Given the description of an element on the screen output the (x, y) to click on. 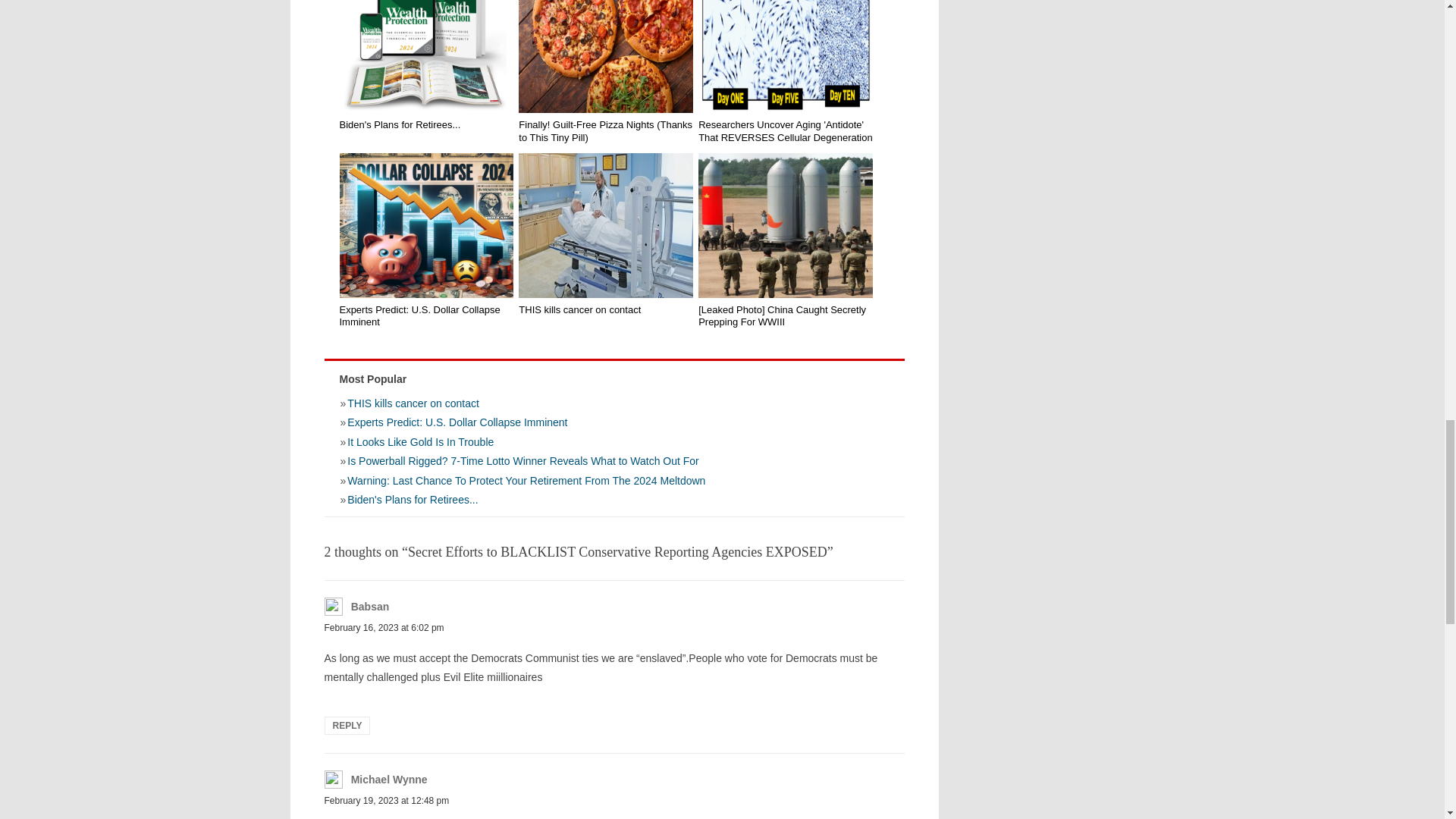
REPLY (347, 725)
THIS kills cancer on contact (614, 402)
THIS kills cancer on contact (605, 225)
It Looks Like Gold Is In Trouble (614, 442)
February 19, 2023 at 12:48 pm (386, 800)
Experts Predict: U.S. Dollar Collapse Imminent (426, 225)
Biden's Plans for Retirees... (614, 502)
Experts Predict: U.S. Dollar Collapse Imminent (426, 315)
Biden's Plans for Retirees... (426, 56)
February 16, 2023 at 6:02 pm (384, 627)
Experts Predict: U.S. Dollar Collapse Imminent (614, 422)
